Given the description of an element on the screen output the (x, y) to click on. 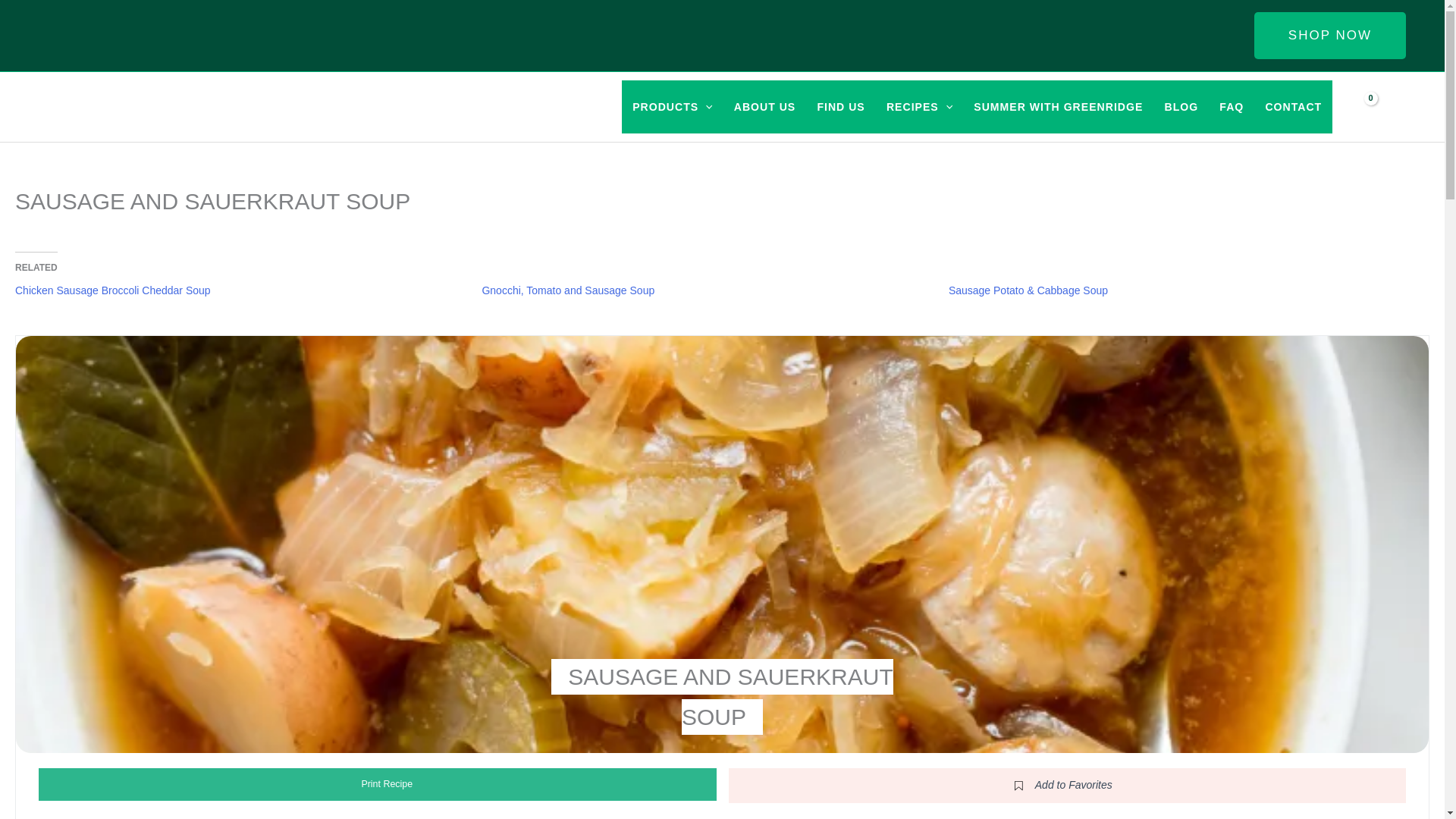
RECIPES (919, 106)
SUMMER WITH GREENRIDGE (1057, 106)
Chicken Sausage Broccoli Cheddar Soup (112, 290)
FIND US (840, 106)
ABOUT US (764, 106)
CONTACT (1292, 106)
SHOP NOW (1329, 35)
Gnocchi, Tomato and Sausage Soup (567, 290)
PRODUCTS (672, 106)
BLOG (1180, 106)
